Given the description of an element on the screen output the (x, y) to click on. 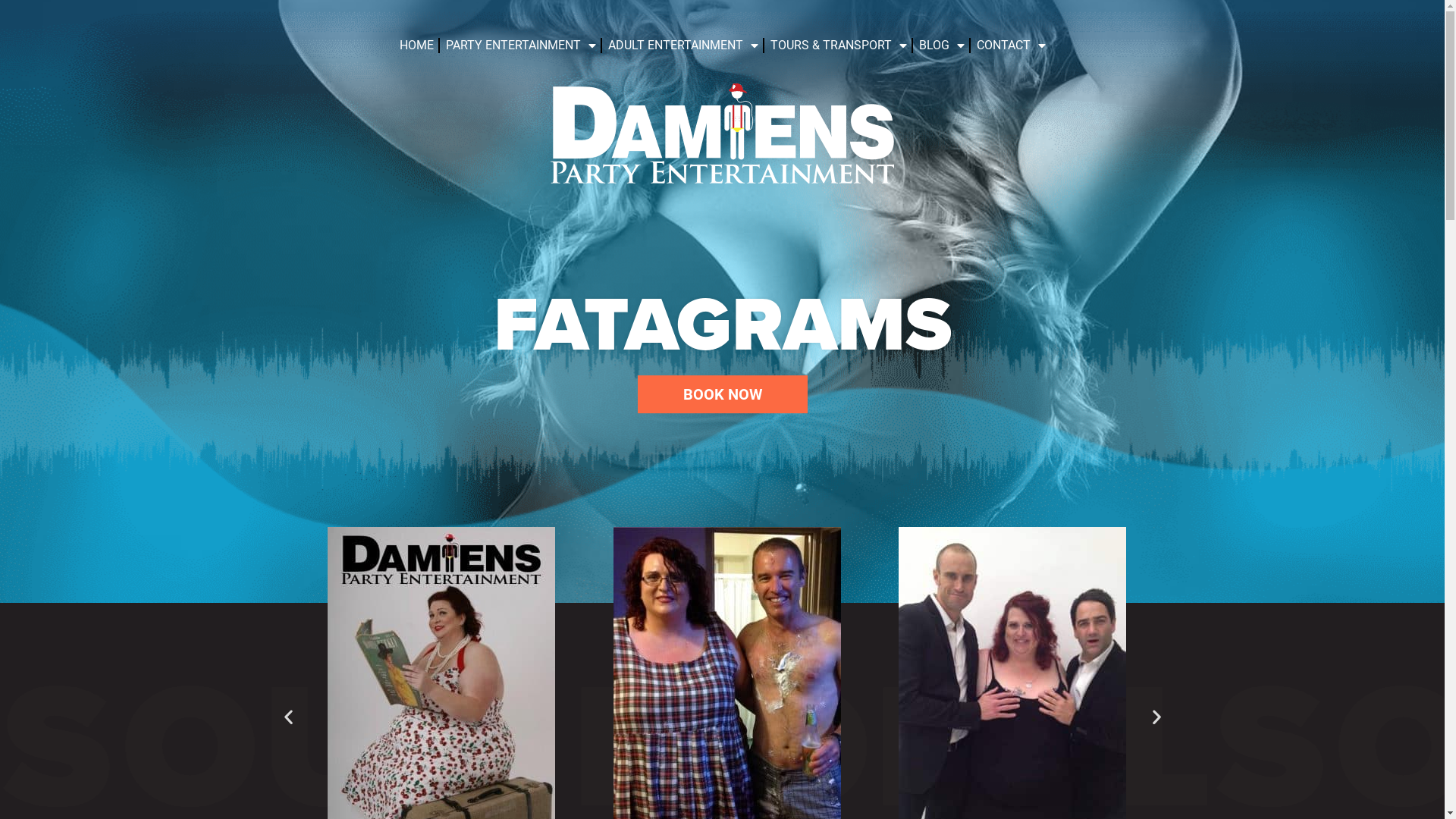
PARTY ENTERTAINMENT Element type: text (520, 45)
BLOG Element type: text (941, 45)
CONTACT Element type: text (1010, 45)
HOME Element type: text (415, 45)
ADULT ENTERTAINMENT Element type: text (683, 45)
TOURS & TRANSPORT Element type: text (838, 45)
BOOK NOW Element type: text (721, 394)
